Given the description of an element on the screen output the (x, y) to click on. 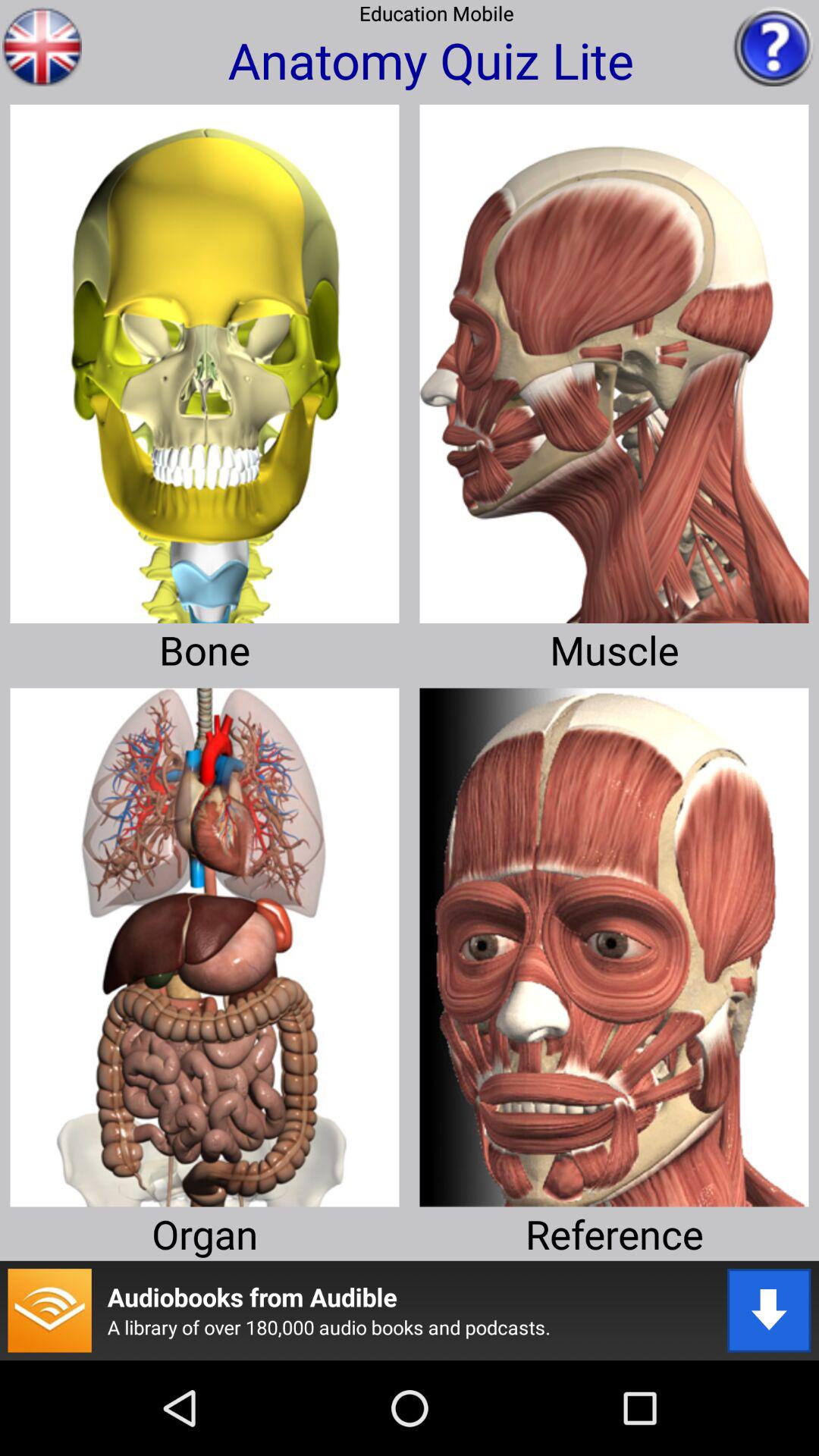
select image (613, 358)
